Given the description of an element on the screen output the (x, y) to click on. 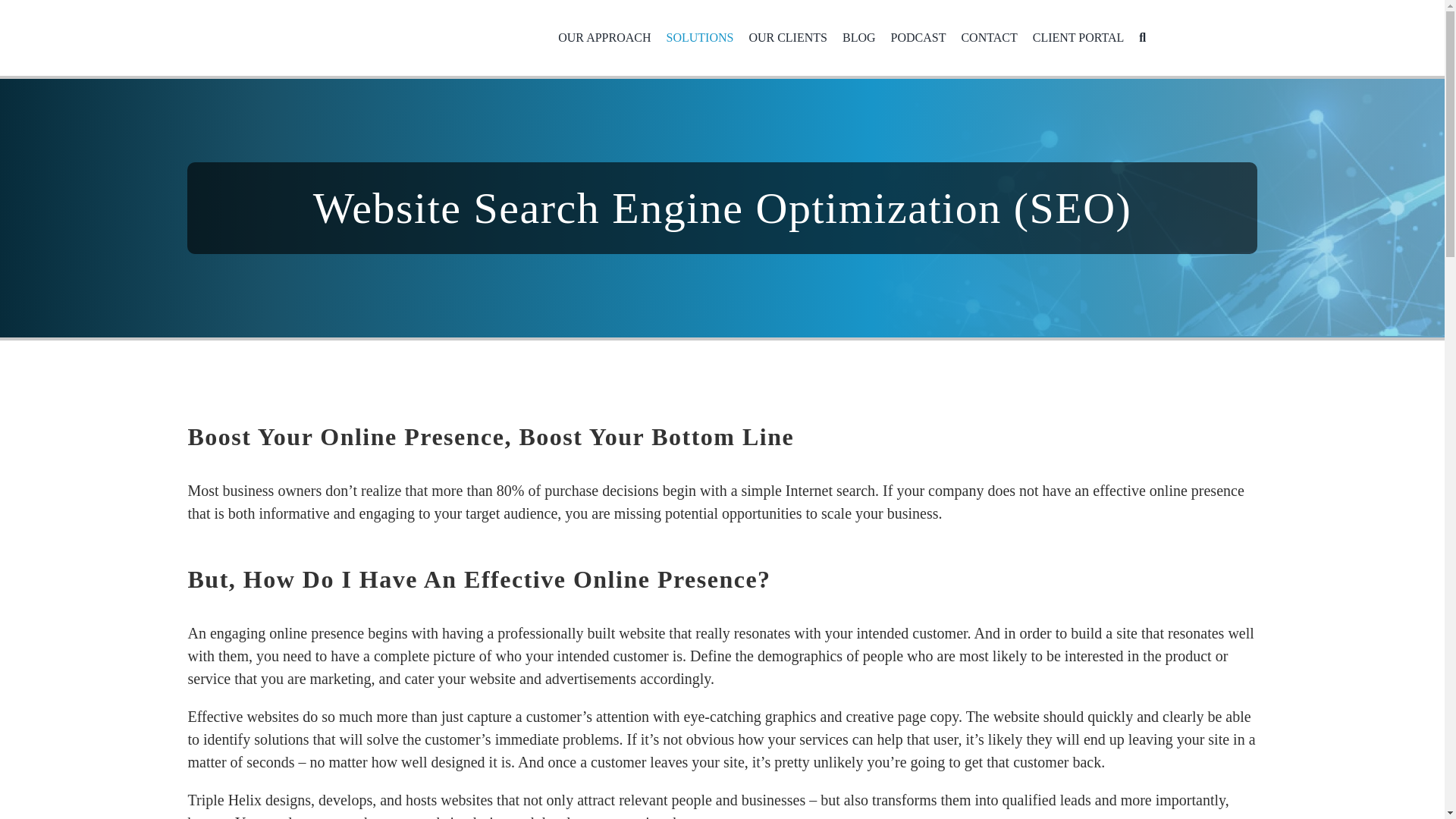
OUR CLIENTS (787, 37)
CONTACT (988, 37)
PODCAST (918, 37)
CLIENT PORTAL (1078, 37)
OUR APPROACH (603, 37)
SOLUTIONS (699, 37)
